Given the description of an element on the screen output the (x, y) to click on. 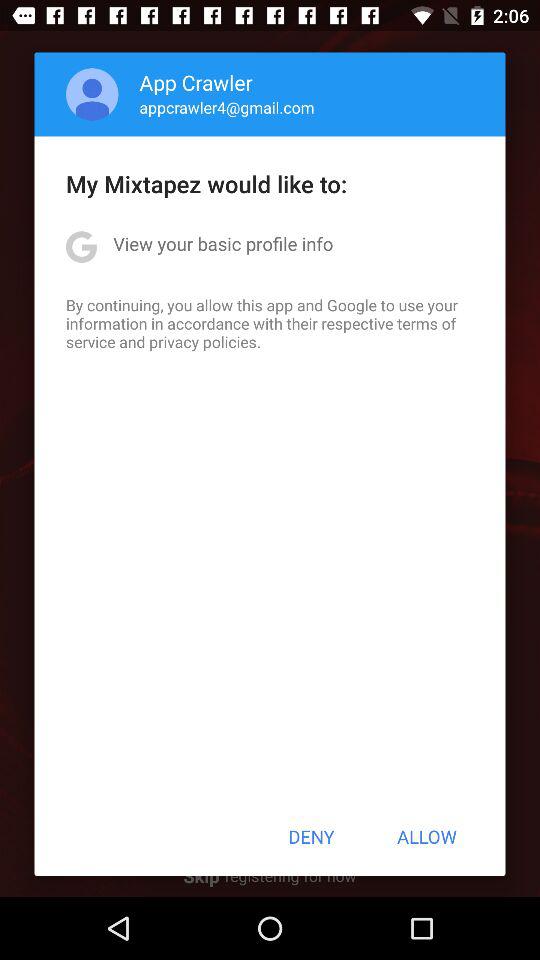
swipe to view your basic item (223, 243)
